Given the description of an element on the screen output the (x, y) to click on. 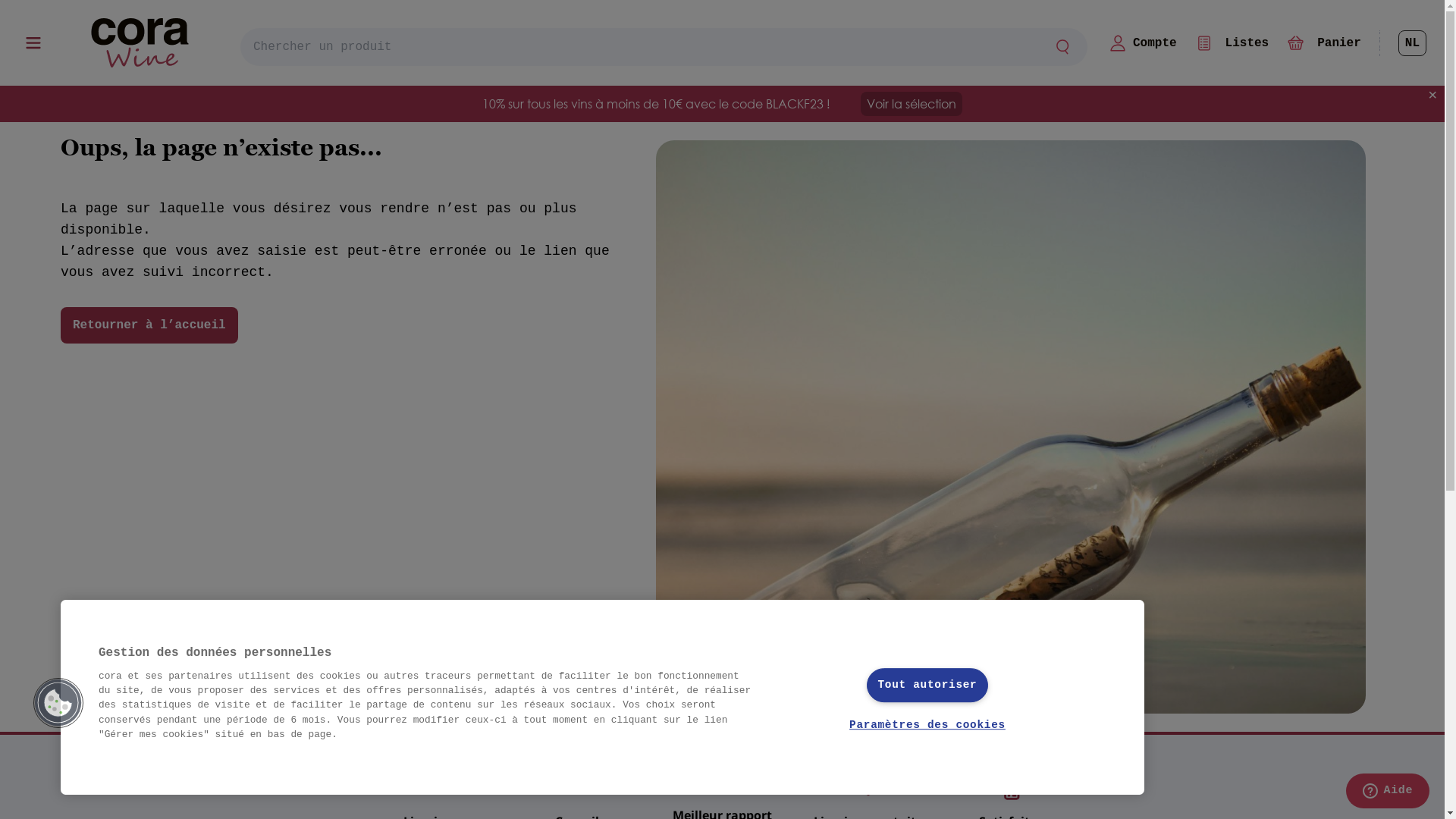
Listes Element type: text (1232, 42)
Tout autoriser Element type: text (927, 685)
Cookies Button Element type: text (58, 702)
NL Element type: text (1412, 43)
Logo cora Wine Element type: hover (139, 42)
Compte Element type: text (1142, 42)
Panier Element type: text (1323, 42)
error Element type: hover (1010, 426)
